Given the description of an element on the screen output the (x, y) to click on. 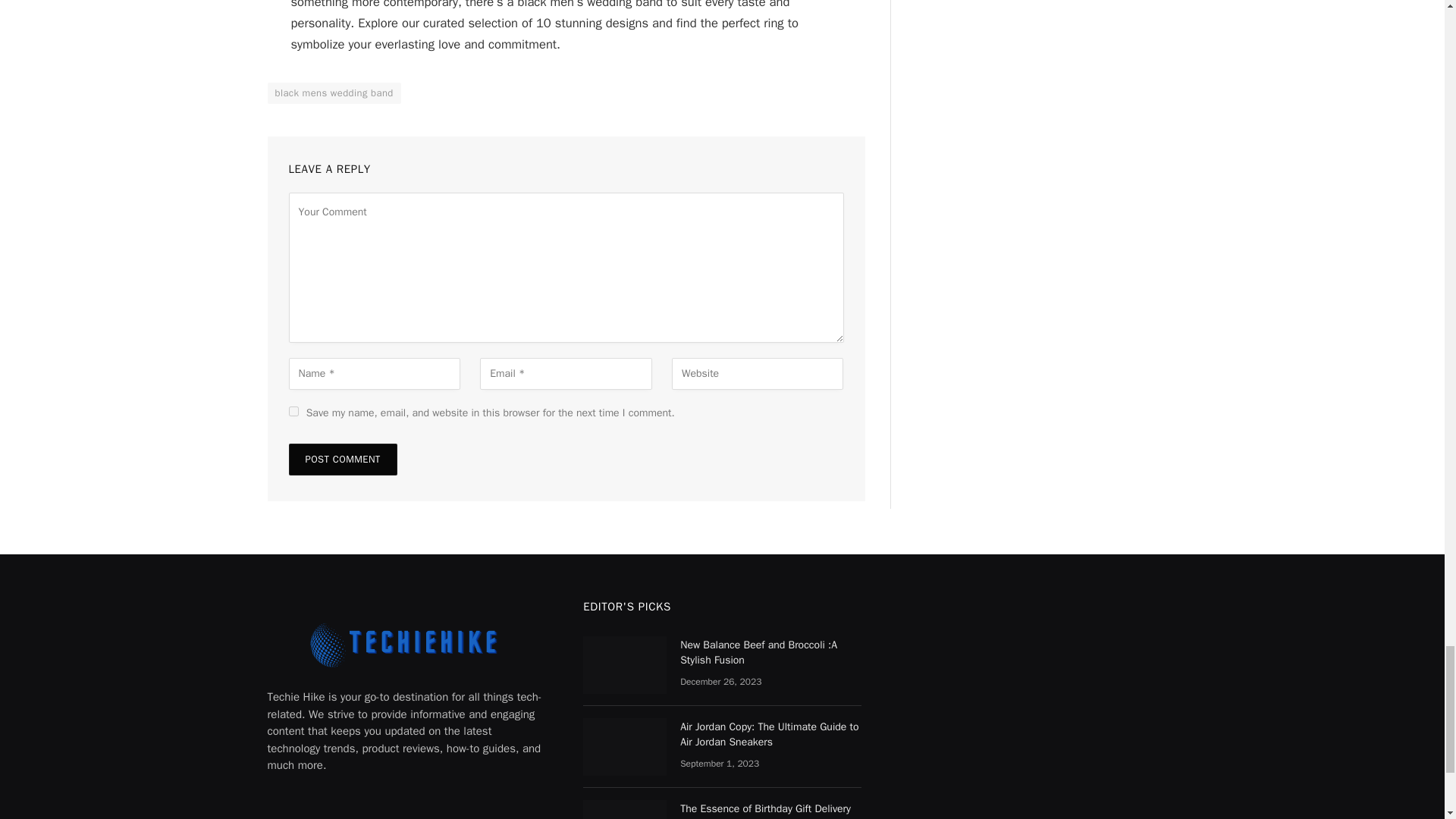
Post Comment (342, 459)
black mens wedding band (333, 93)
Post Comment (342, 459)
yes (293, 411)
